Given the description of an element on the screen output the (x, y) to click on. 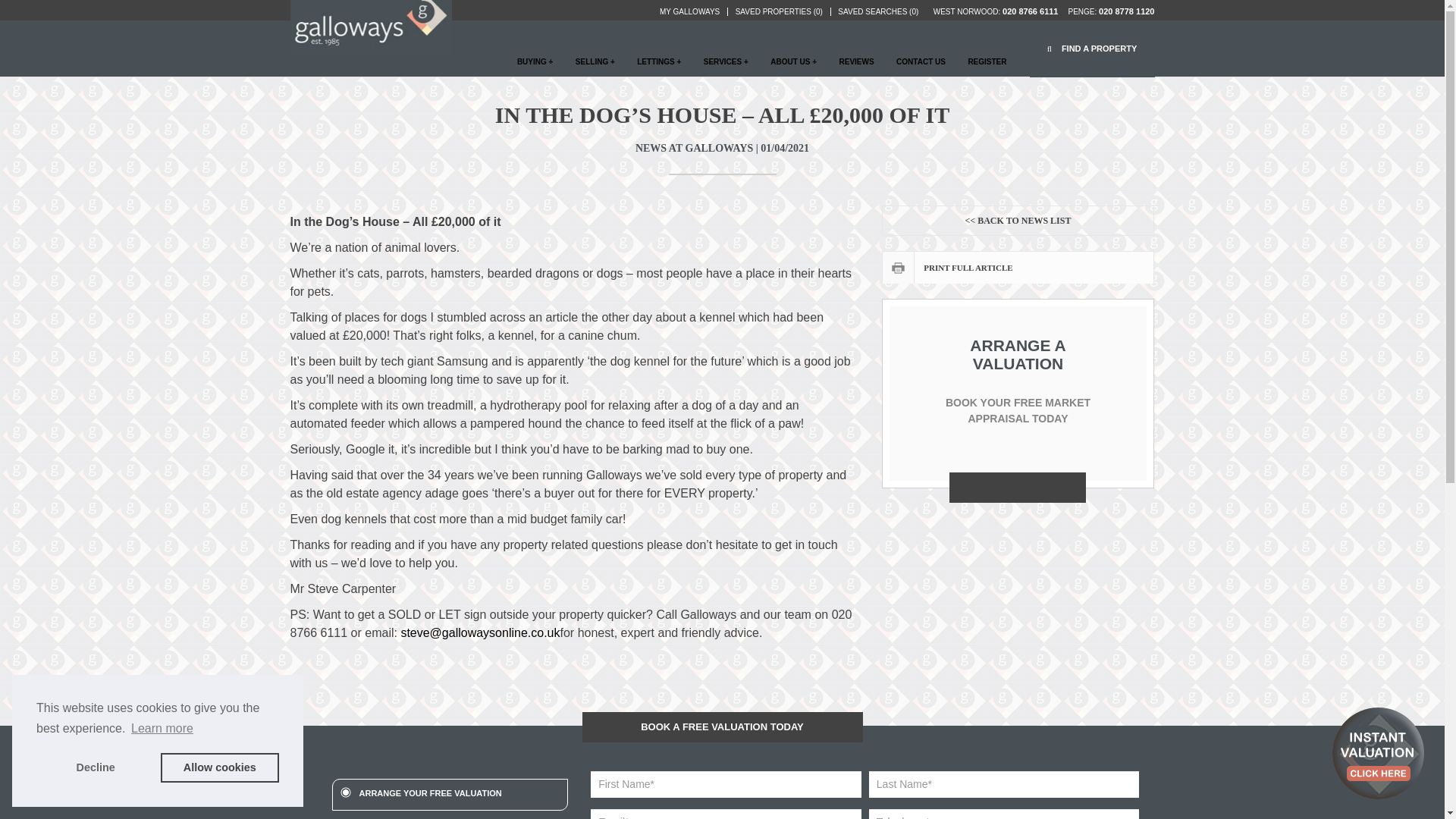
Decline (95, 767)
Allow cookies (219, 767)
Learn more (162, 728)
